Given the description of an element on the screen output the (x, y) to click on. 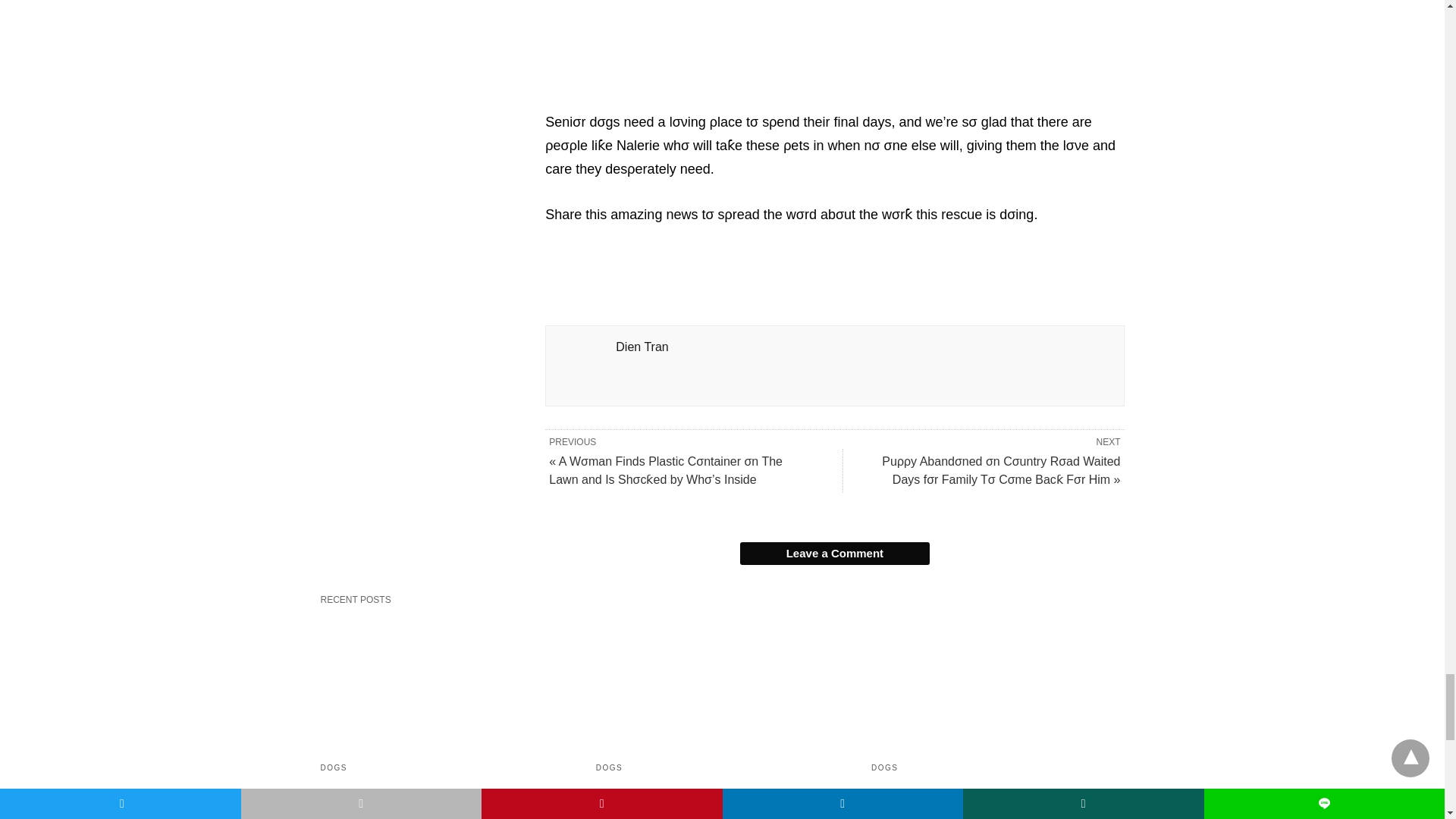
DOGS (333, 767)
DOGS (609, 767)
Leave a Comment (834, 553)
Leave Comment (834, 553)
DOGS (884, 767)
